Given the description of an element on the screen output the (x, y) to click on. 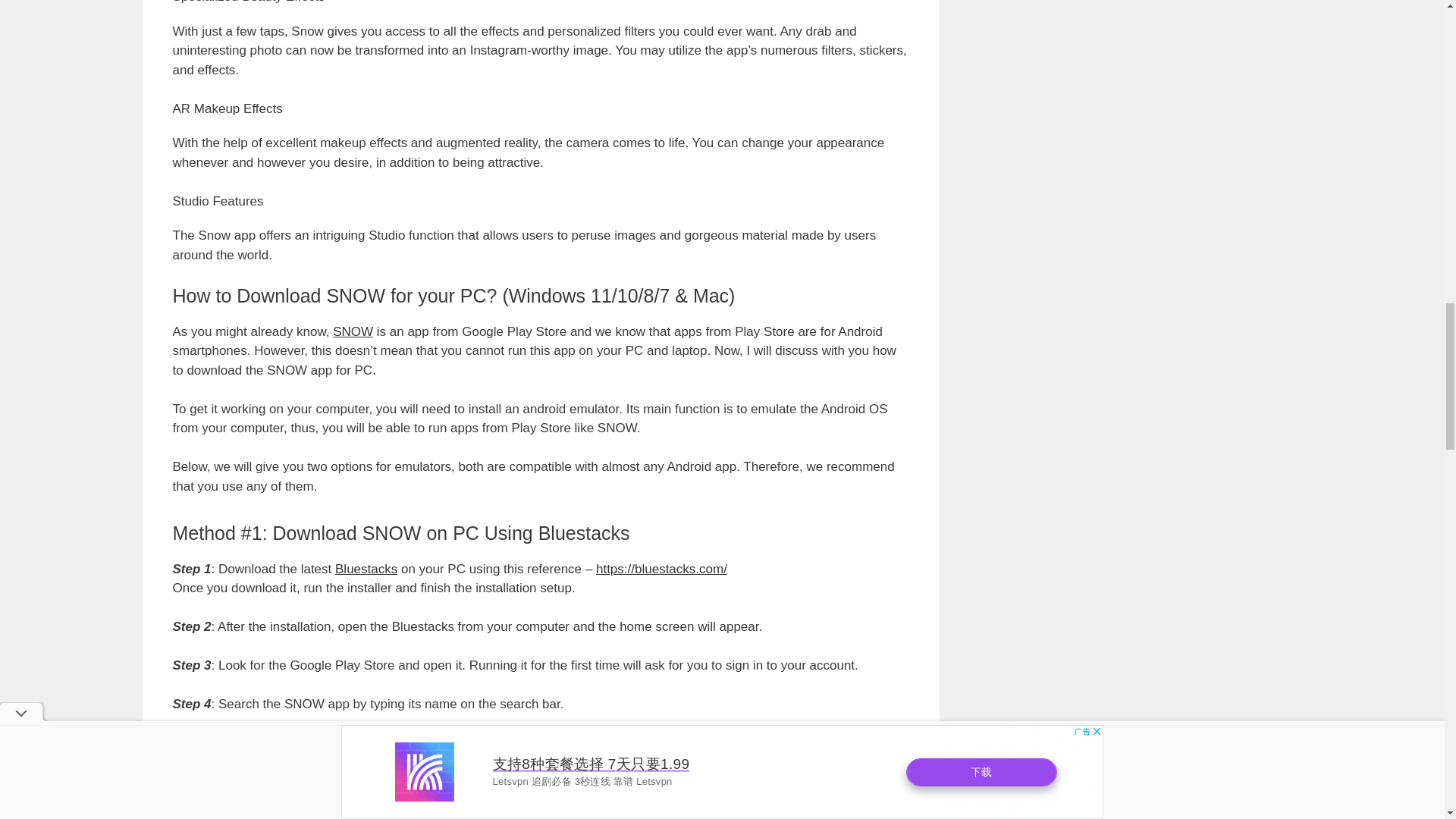
Bluestacks (365, 568)
SNOW (352, 331)
